Given the description of an element on the screen output the (x, y) to click on. 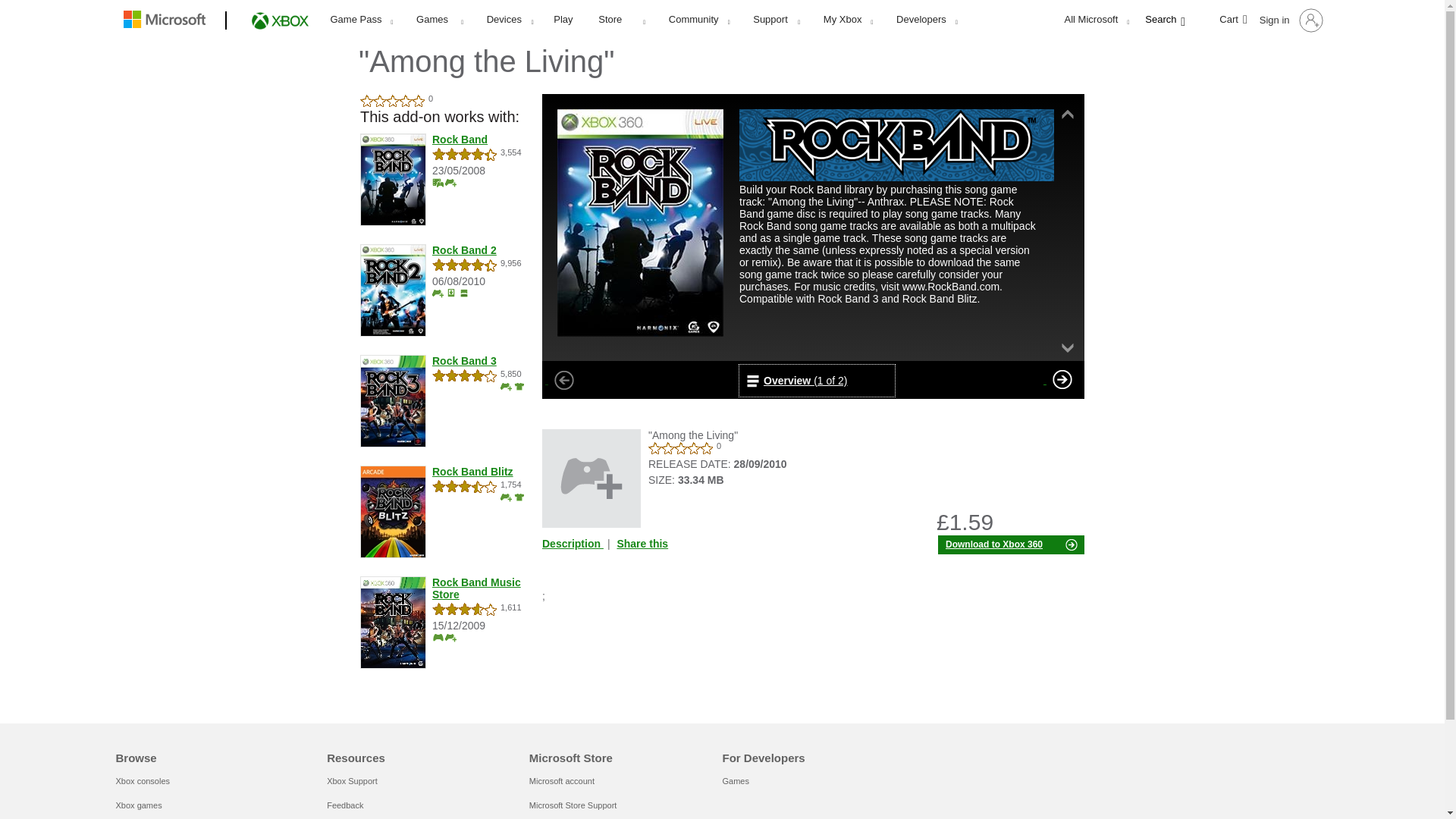
Games (438, 636)
Game Add-on (590, 478)
Game Add-ons (438, 292)
Themes (463, 292)
Description - "Among the Living" (574, 543)
Game Add-ons (506, 496)
Devices (510, 18)
Avatar Items (518, 386)
Games (439, 18)
Game Pass (360, 18)
Share this - "Among the Living" (641, 543)
Game Videos (438, 182)
Next (1062, 379)
Avatar Items (518, 496)
Previous (563, 379)
